Given the description of an element on the screen output the (x, y) to click on. 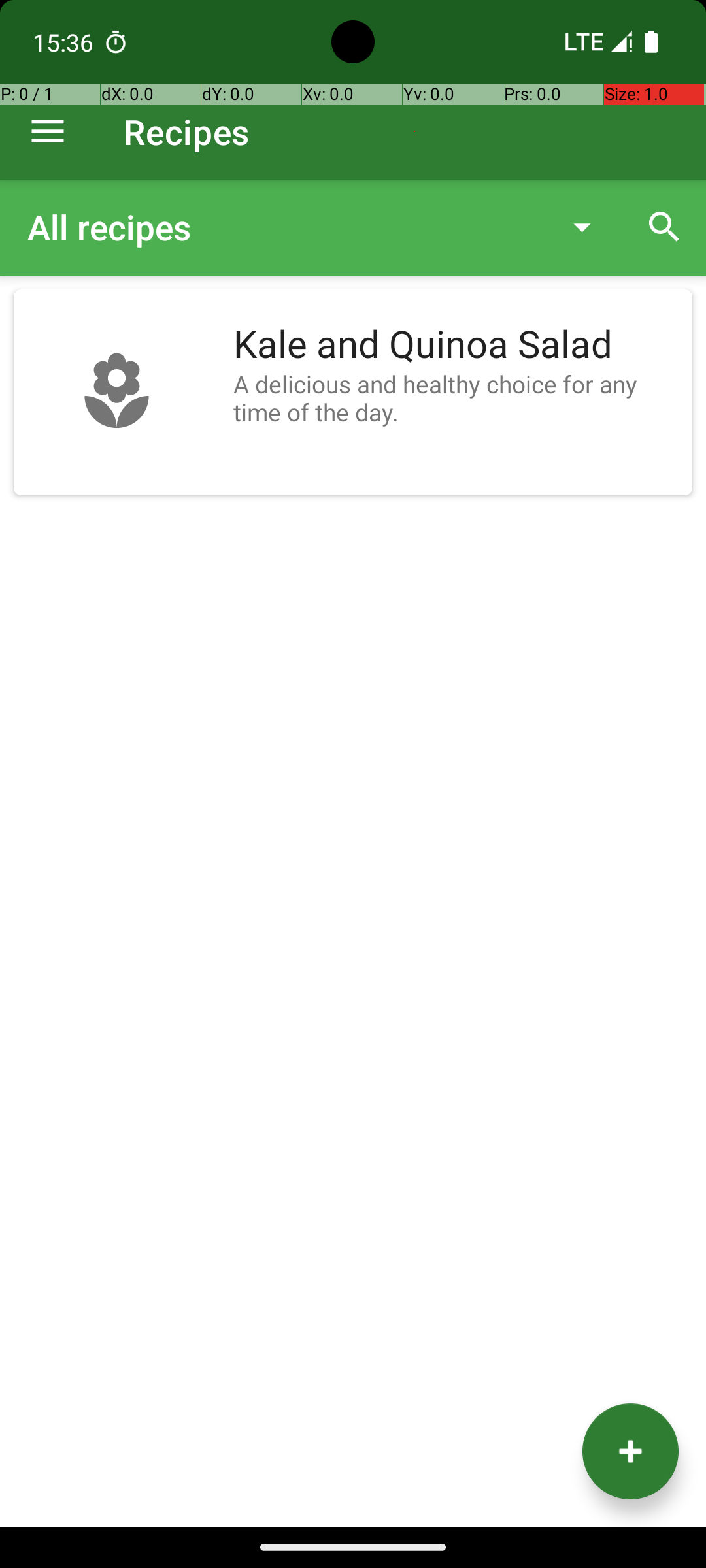
15:36 Element type: android.widget.TextView (64, 41)
